Given the description of an element on the screen output the (x, y) to click on. 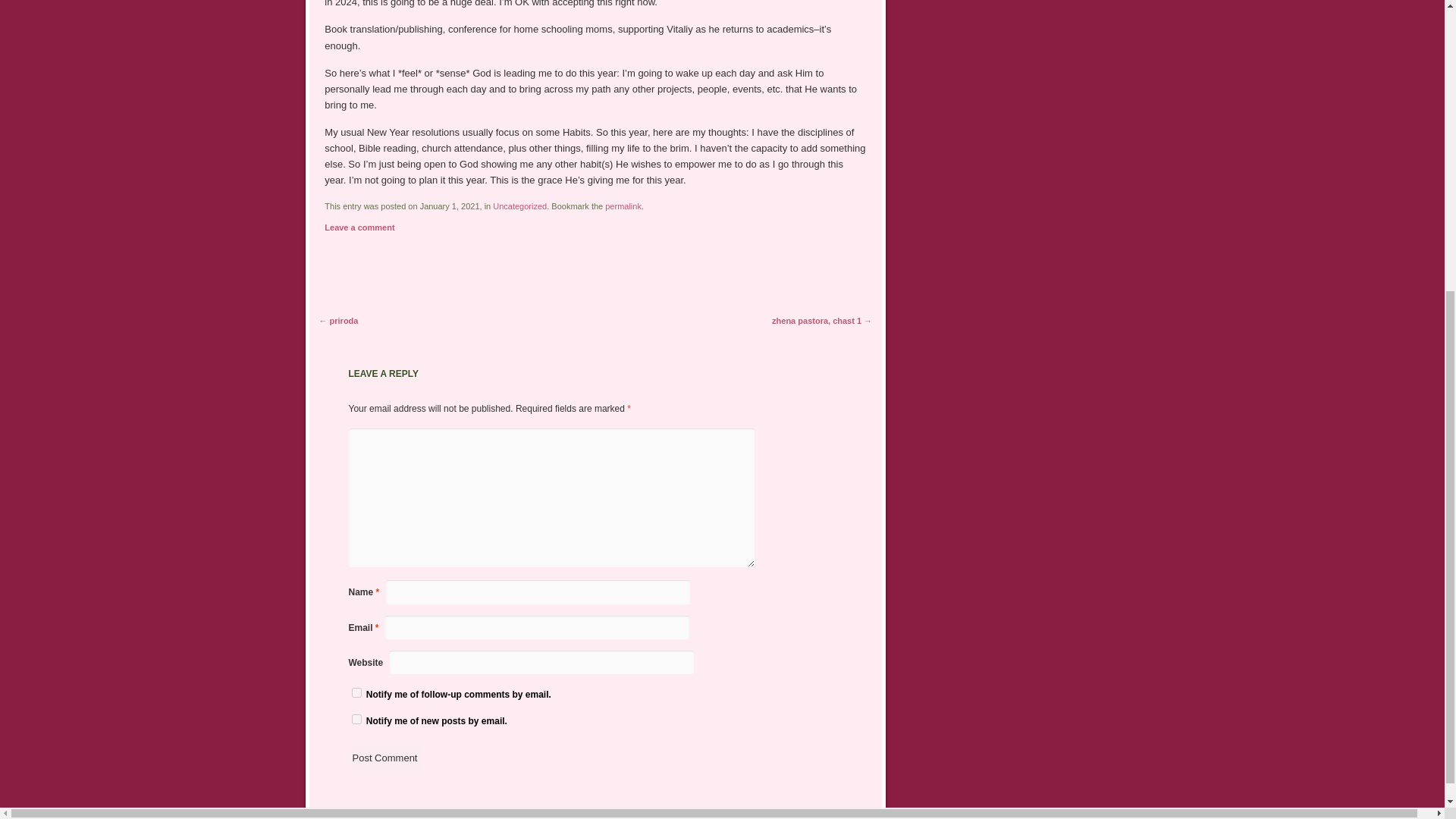
Post Comment (385, 757)
Permalink to New Year 2021 (623, 205)
permalink (623, 205)
Leave a comment (359, 226)
Uncategorized (520, 205)
Post Comment (385, 757)
subscribe (356, 718)
subscribe (356, 692)
